Given the description of an element on the screen output the (x, y) to click on. 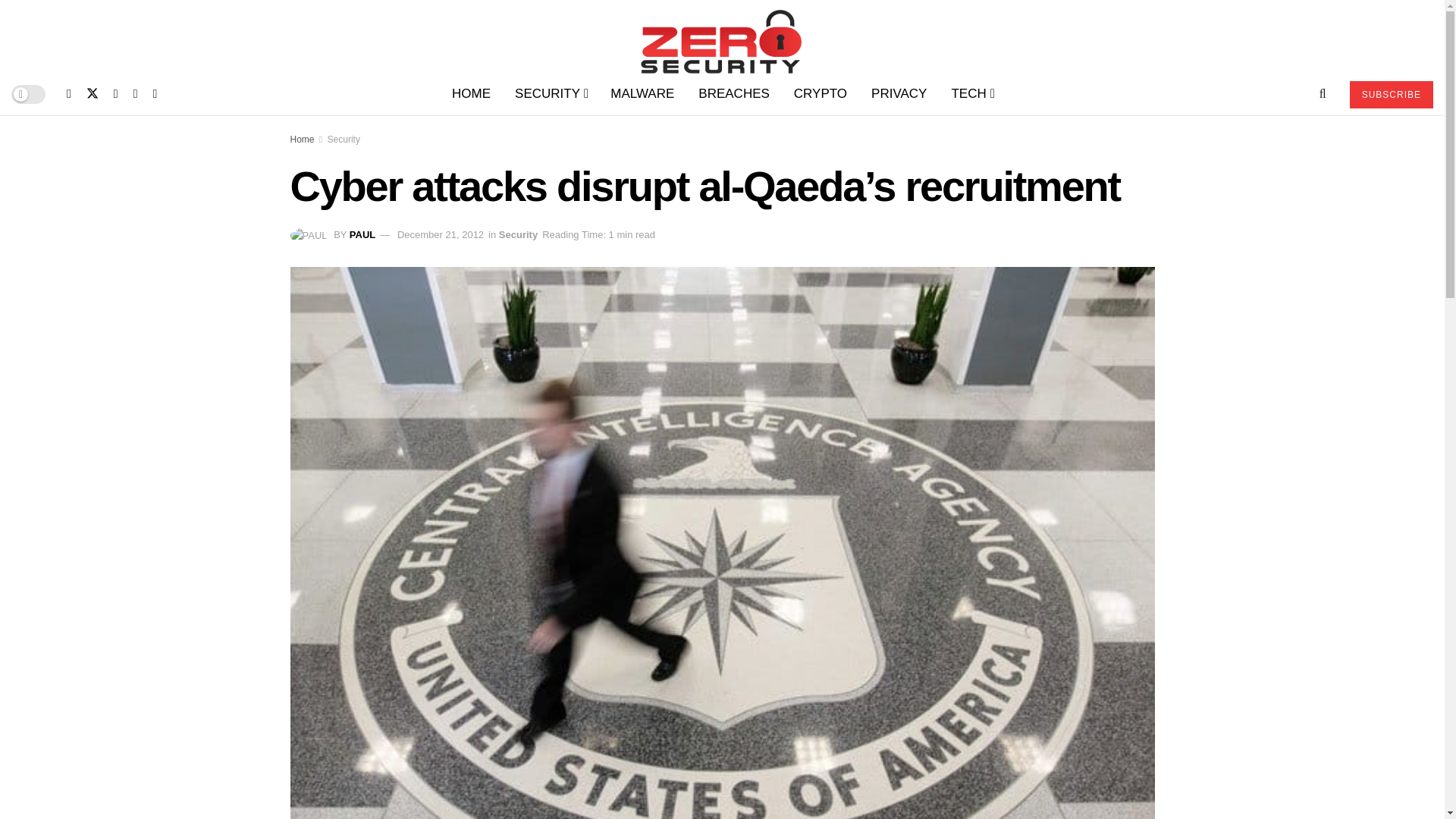
HOME (470, 93)
SECURITY (550, 93)
TECH (971, 93)
MALWARE (641, 93)
CRYPTO (820, 93)
BREACHES (733, 93)
PRIVACY (899, 93)
SUBSCRIBE (1390, 94)
